Given the description of an element on the screen output the (x, y) to click on. 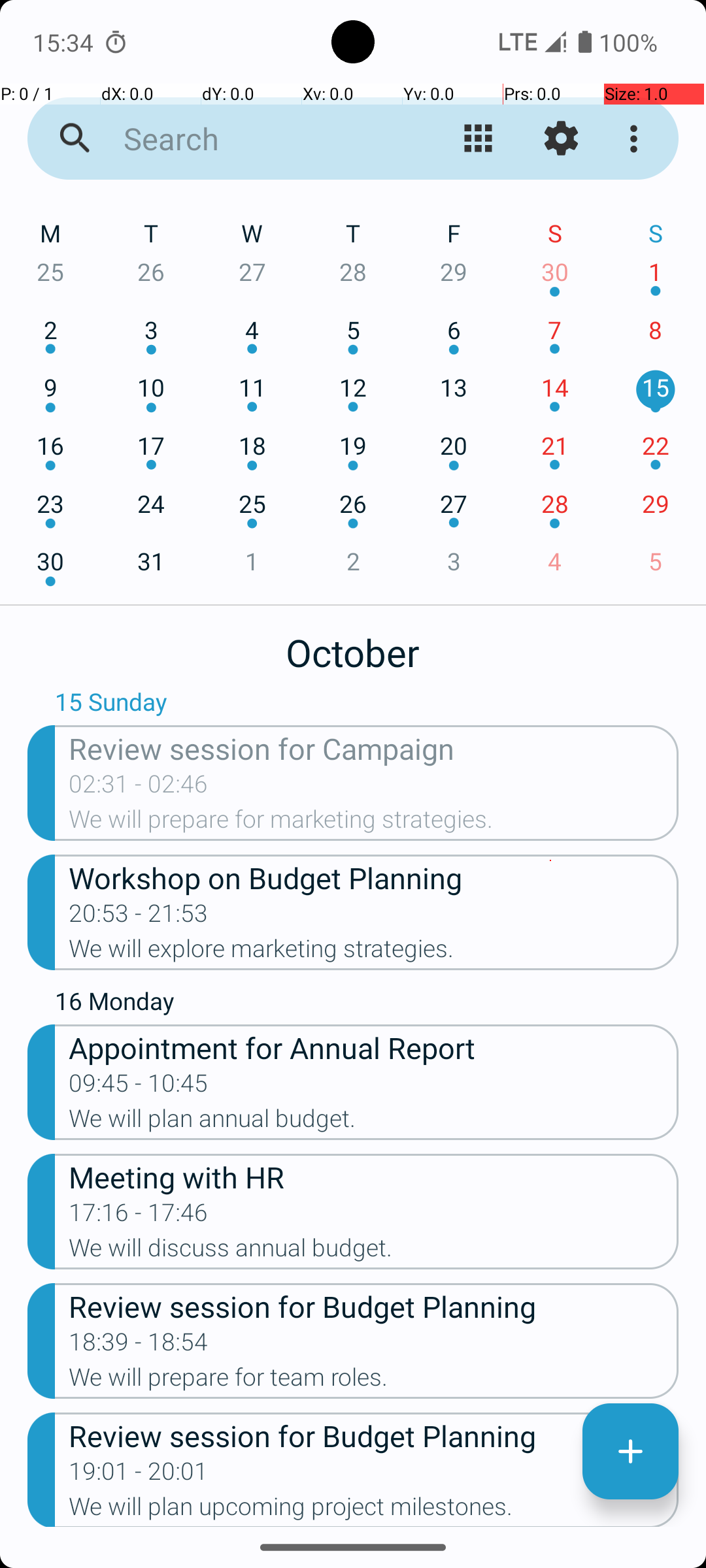
02:31 - 02:46 Element type: android.widget.TextView (137, 787)
We will prepare for marketing strategies. Element type: android.widget.TextView (373, 822)
20:53 - 21:53 Element type: android.widget.TextView (137, 916)
We will explore marketing strategies. Element type: android.widget.TextView (373, 952)
09:45 - 10:45 Element type: android.widget.TextView (137, 1086)
We will plan annual budget. Element type: android.widget.TextView (373, 1122)
17:16 - 17:46 Element type: android.widget.TextView (137, 1216)
We will discuss annual budget. Element type: android.widget.TextView (373, 1251)
18:39 - 18:54 Element type: android.widget.TextView (137, 1345)
We will prepare for team roles. Element type: android.widget.TextView (373, 1380)
19:01 - 20:01 Element type: android.widget.TextView (137, 1474)
We will plan upcoming project milestones. Element type: android.widget.TextView (373, 1509)
